Given the description of an element on the screen output the (x, y) to click on. 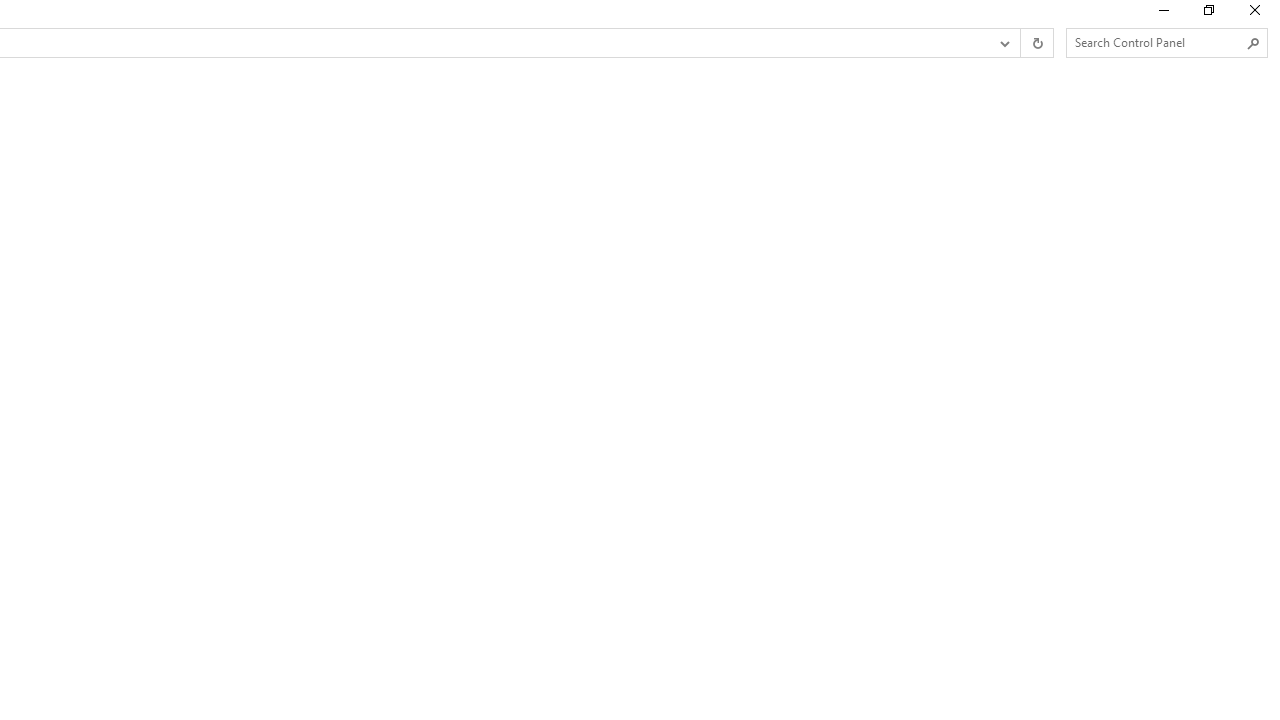
Search Box (1156, 42)
Restore (1208, 14)
Search (1253, 43)
Refresh "Clock and Region" (F5) (1036, 43)
Minimize (1162, 14)
Address band toolbar (1019, 43)
Previous Locations (1003, 43)
